Given the description of an element on the screen output the (x, y) to click on. 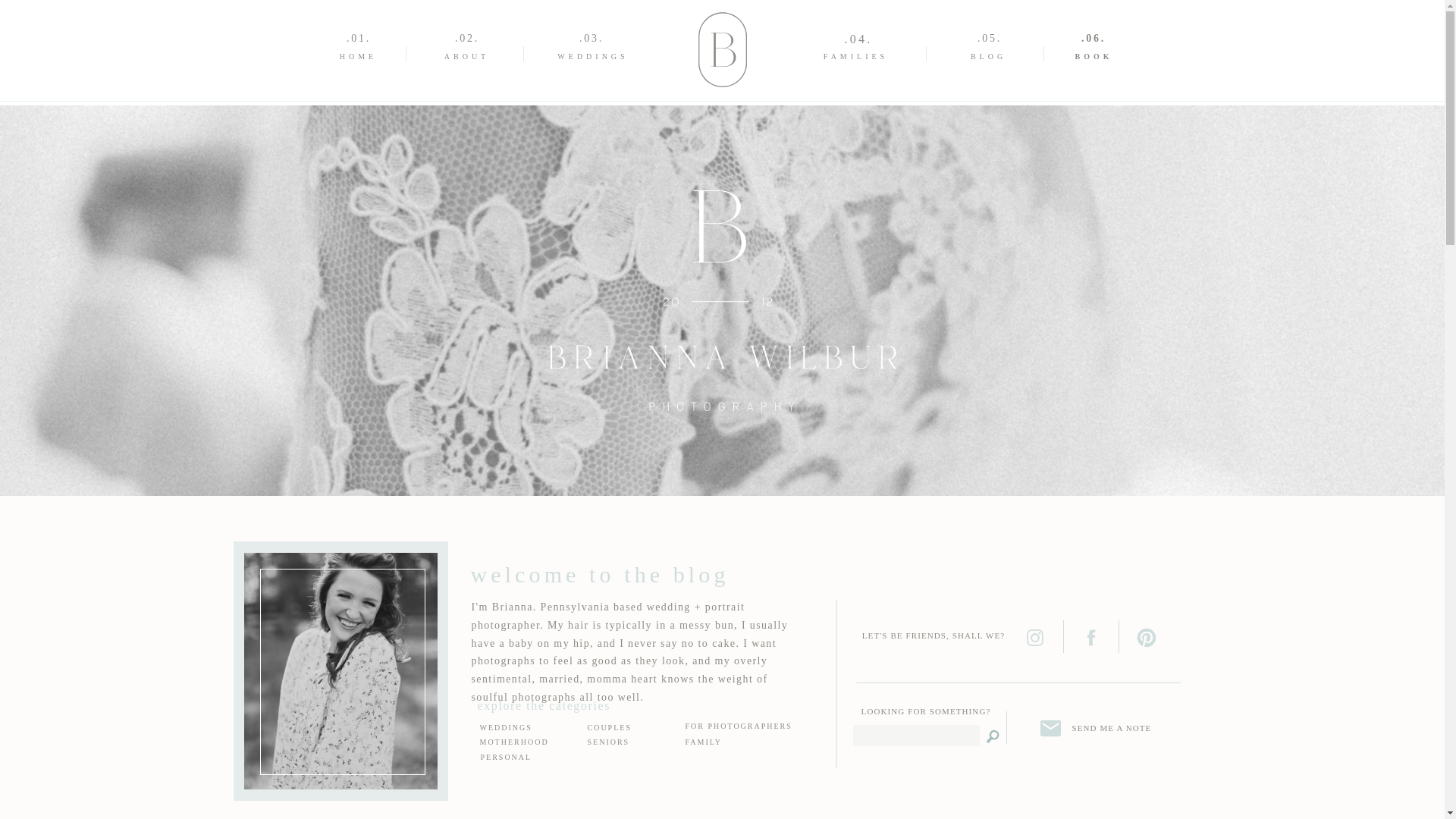
ABOUT (466, 58)
WEDDINGS (511, 727)
.05. (989, 38)
COUPLES (612, 728)
HOME (358, 58)
MOTHERHOOD (519, 743)
FAMILY (707, 745)
.04. (858, 38)
.02. (466, 38)
PERSONAL (508, 758)
SENIORS (622, 743)
.03. (590, 38)
.06. (1092, 38)
WEDDINGS (593, 58)
BLOG (988, 58)
